Given the description of an element on the screen output the (x, y) to click on. 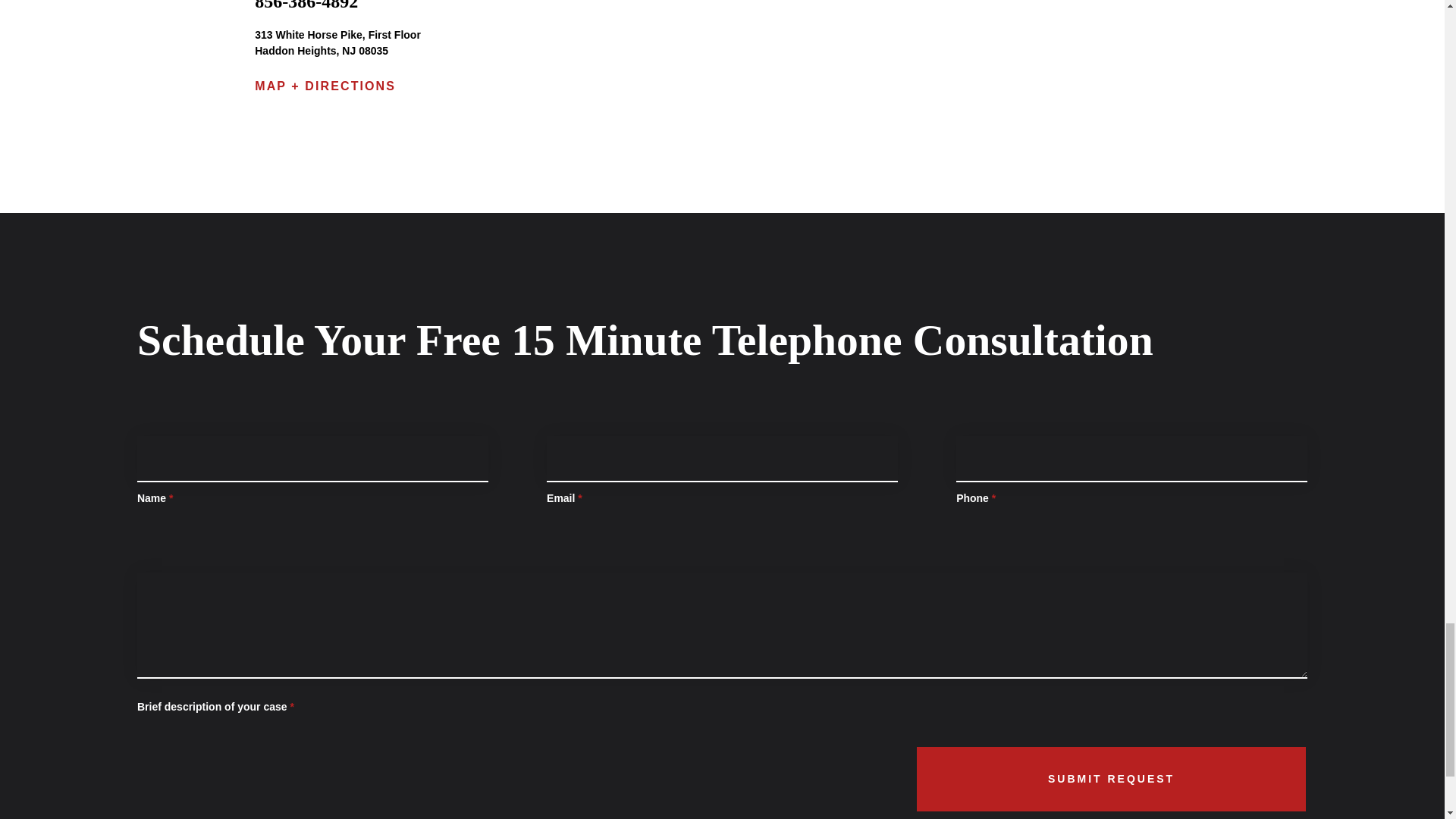
Submit Request (1111, 778)
